Given the description of an element on the screen output the (x, y) to click on. 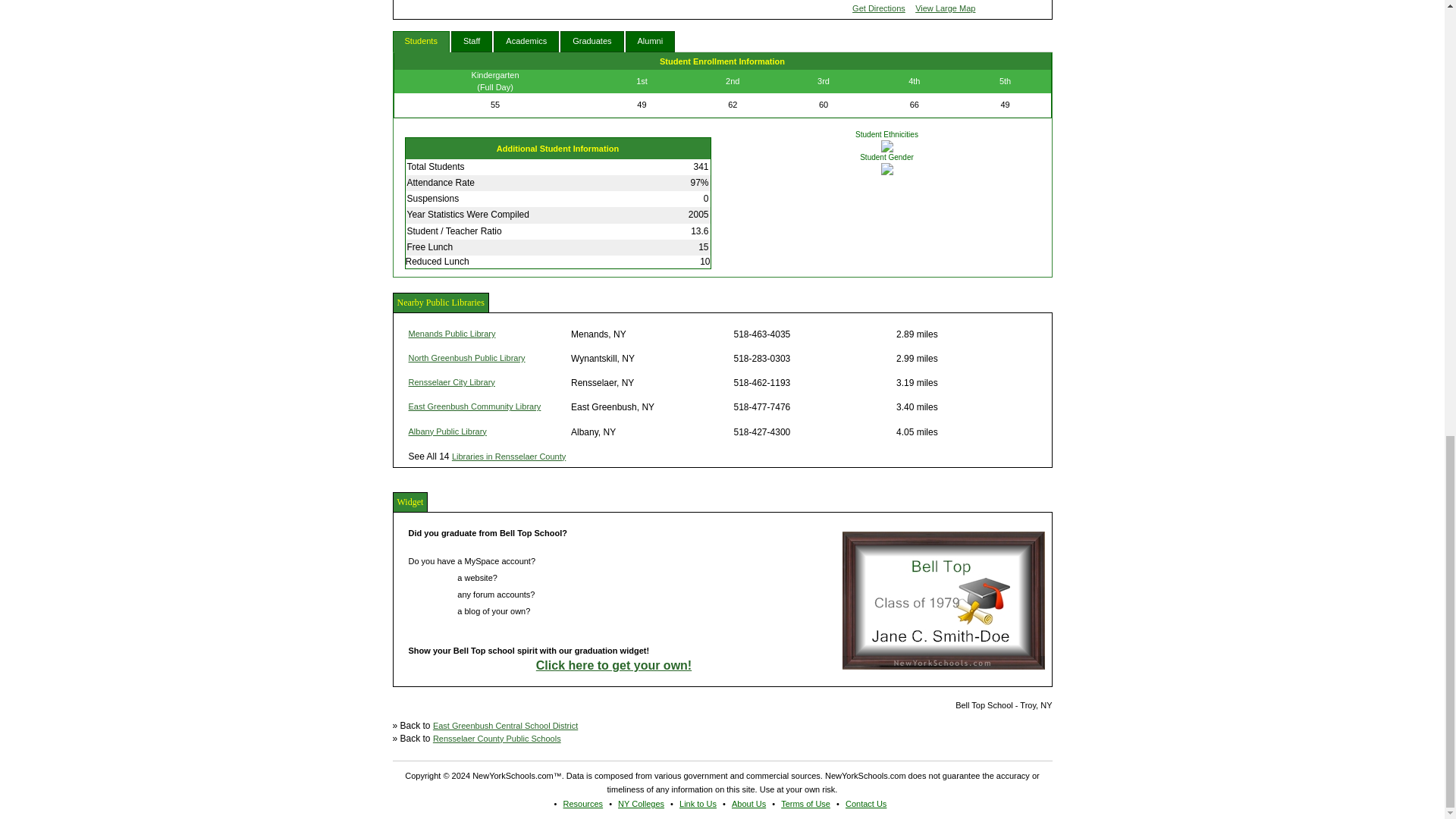
Get Directions (878, 8)
Students (421, 41)
Staff (471, 41)
View Large Map (945, 8)
